Given the description of an element on the screen output the (x, y) to click on. 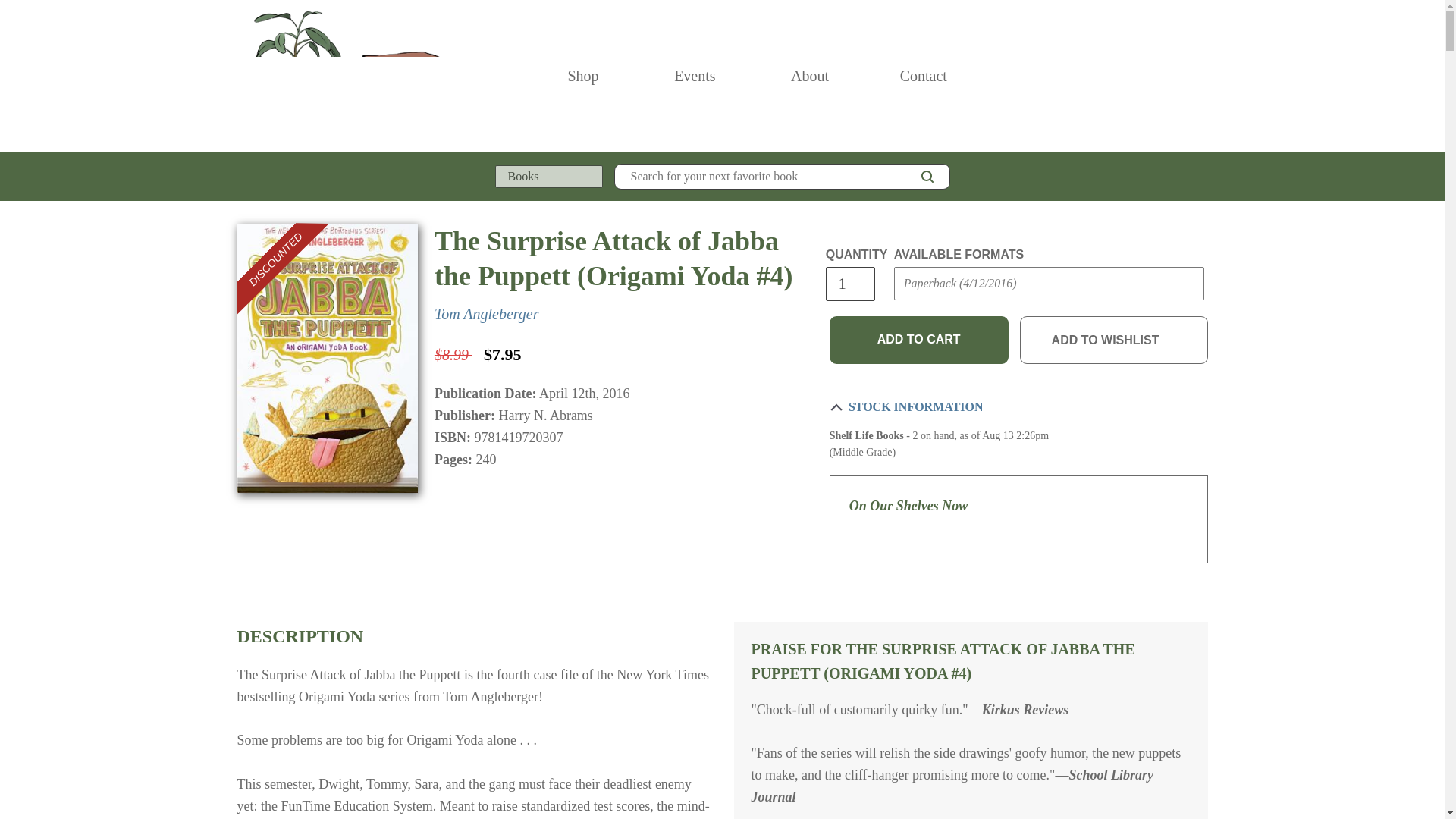
Add to cart (919, 339)
Wishlist (1168, 75)
SEARCH (926, 176)
Tom Angleberger (485, 313)
Events (695, 75)
Log in (1134, 75)
drop down to see more options (922, 75)
Wishlists (1168, 75)
Log in (1134, 75)
